Given the description of an element on the screen output the (x, y) to click on. 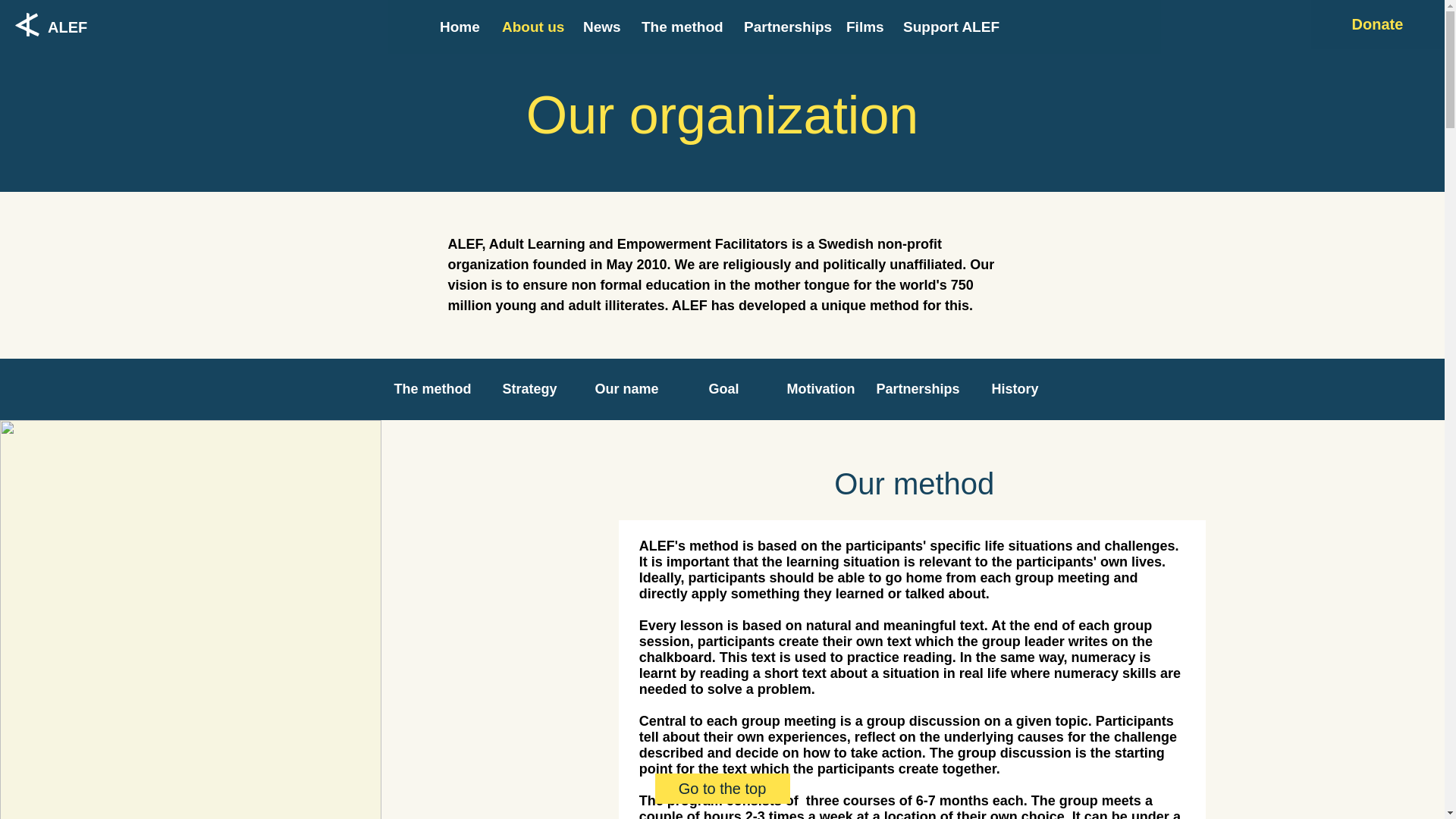
Partnerships (783, 26)
Support ALEF (947, 26)
Strategy (529, 389)
News (601, 26)
About us (531, 26)
ALEF (67, 26)
Our name (626, 389)
Films (862, 26)
The method (681, 26)
Home (459, 26)
The method (432, 389)
Donate (1377, 24)
